Given the description of an element on the screen output the (x, y) to click on. 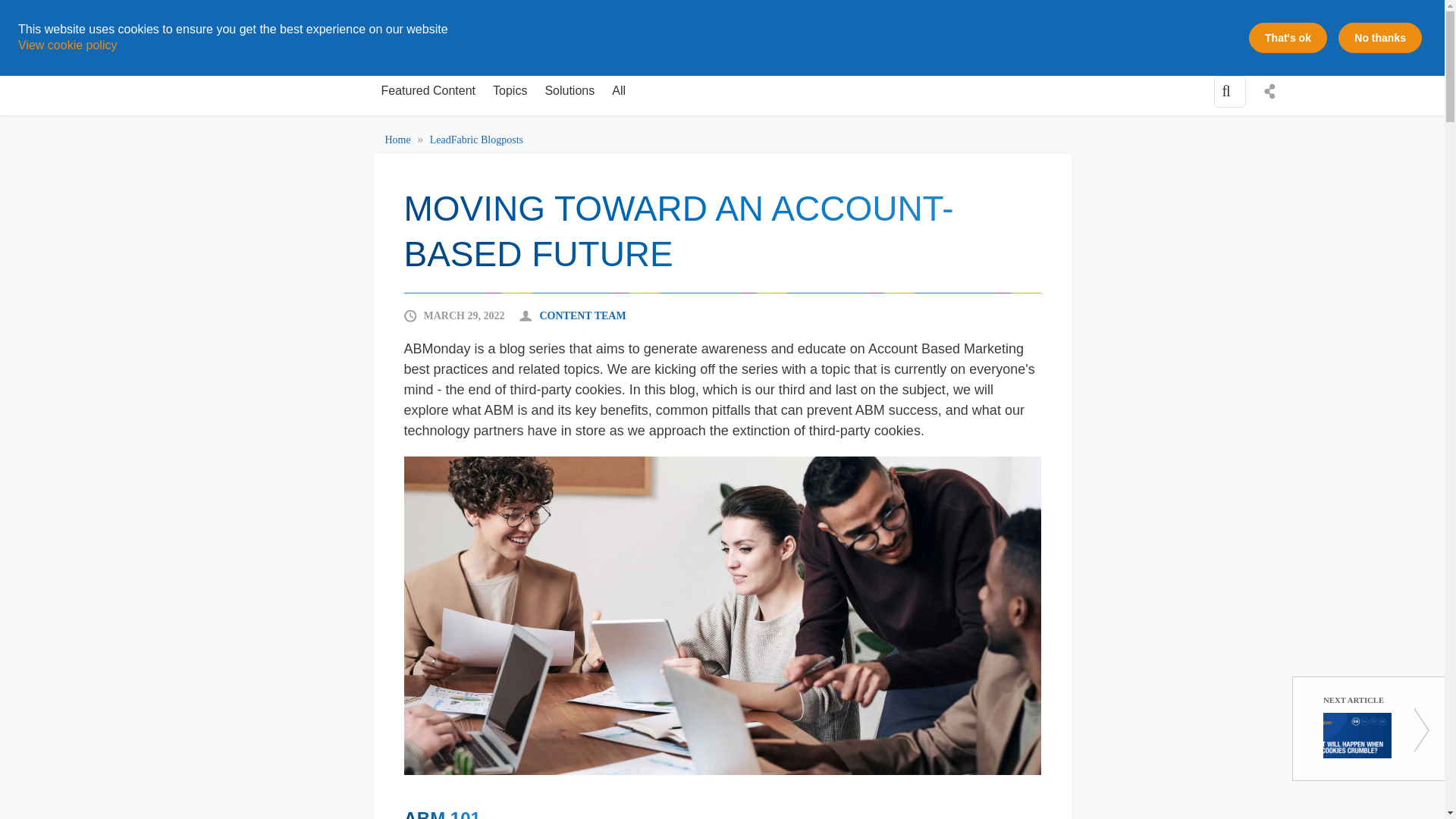
Topics (509, 90)
Solutions (569, 90)
Home (399, 139)
All (618, 90)
LeadFabric Blogposts (475, 139)
Featured Content (427, 90)
